Given the description of an element on the screen output the (x, y) to click on. 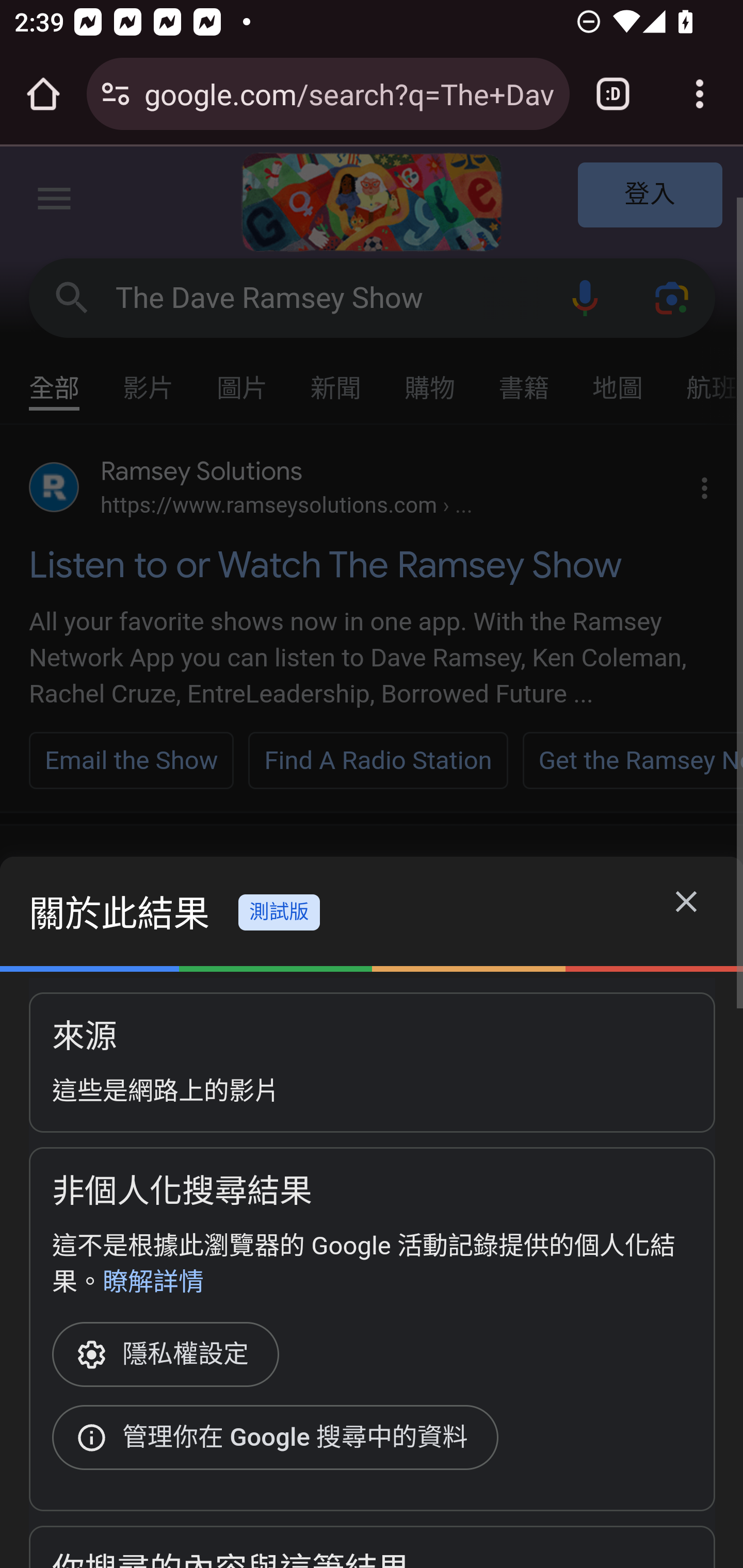
Open the home page (43, 93)
Connection is secure (115, 93)
Switch or close tabs (612, 93)
Customize and control Google Chrome (699, 93)
關閉「關於此結果」 (686, 905)
瞭解詳情 (153, 1281)
隱私權設定 (172, 1354)
管理你在 Google 搜尋中的資料 (281, 1437)
